Given the description of an element on the screen output the (x, y) to click on. 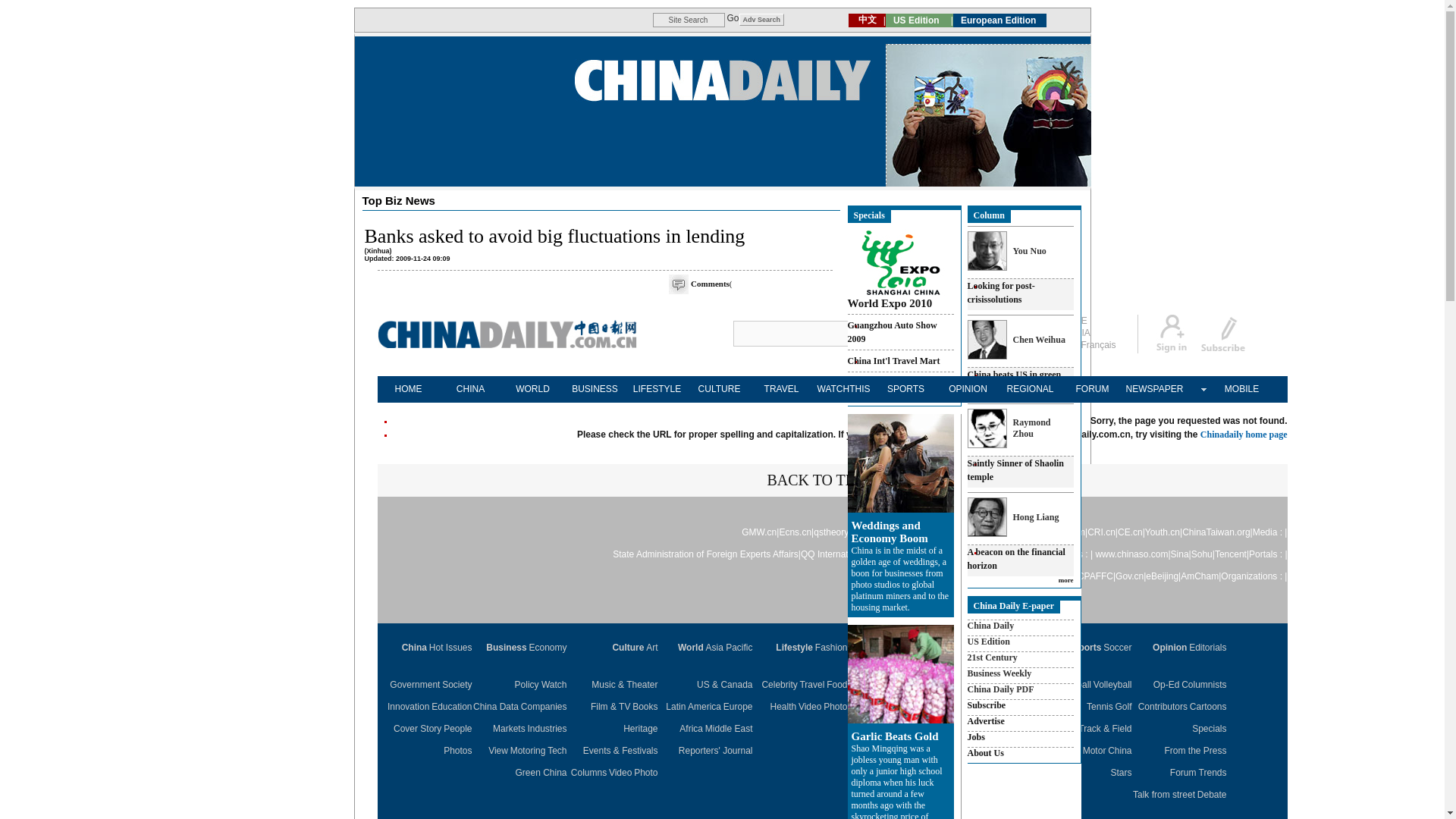
NEWSPAPER (1155, 388)
CHINA (470, 388)
OPINION (967, 388)
AFRICA (1043, 332)
BACK TO THE TOP (831, 479)
FORUM (1092, 388)
WATCHTHIS (843, 388)
REGIONAL (1029, 388)
HOME (408, 388)
TRAVEL (781, 388)
